Given the description of an element on the screen output the (x, y) to click on. 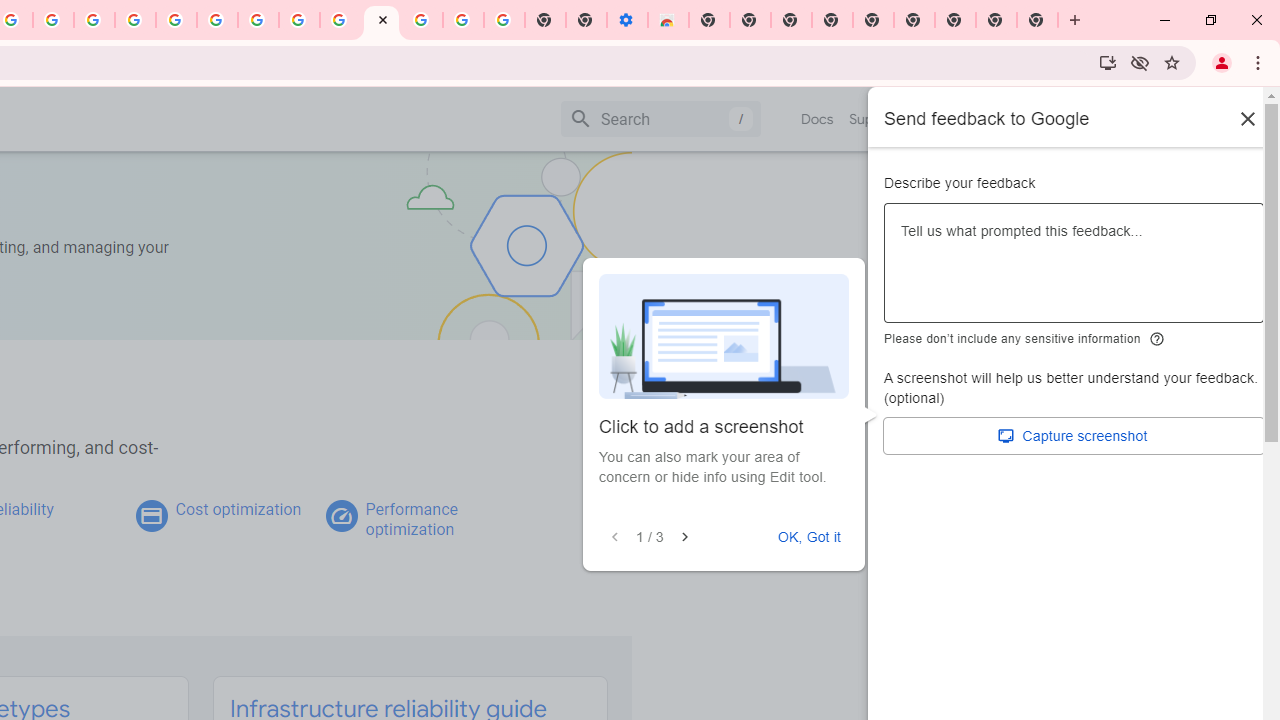
Browse the Google Chrome Community - Google Chrome Community (340, 20)
New Tab (708, 20)
New Tab (955, 20)
Start free (1191, 118)
Cost optimization (238, 509)
Create your Google Account (53, 20)
Create your Google Account (299, 20)
Google Account Help (217, 20)
Previous (615, 537)
Docs (817, 119)
Settings - Accessibility (626, 20)
